Given the description of an element on the screen output the (x, y) to click on. 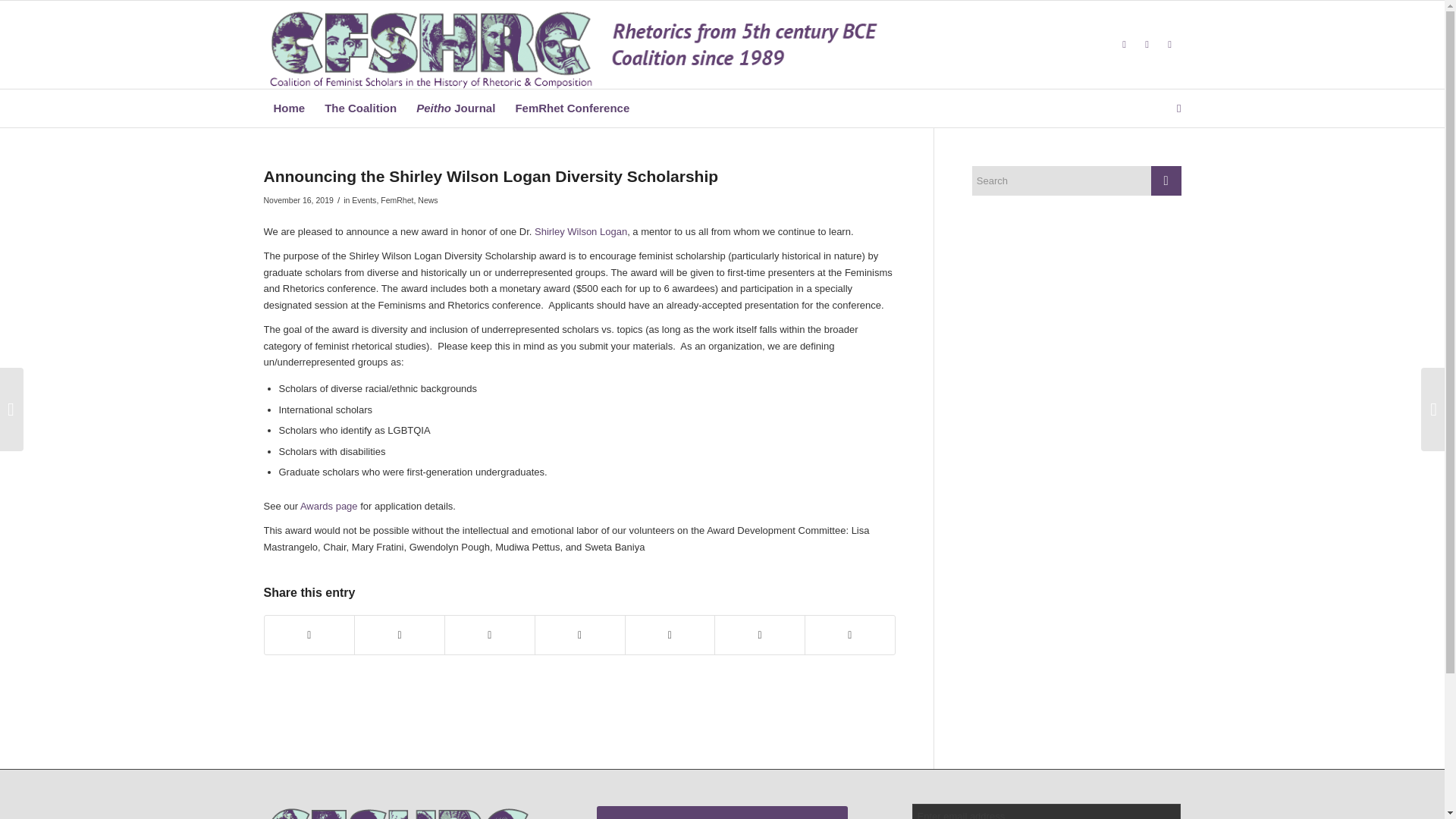
Peitho Journal (455, 108)
Join or Renew Membership Today! (721, 812)
Facebook (1146, 44)
X (1124, 44)
Home (289, 108)
The Coalition (360, 108)
Shirley Wilson Logan (580, 231)
News (427, 199)
Events (363, 199)
Vimeo (1169, 44)
FemRhet Conference (572, 108)
Awards page (328, 505)
FemRhet (396, 199)
